Given the description of an element on the screen output the (x, y) to click on. 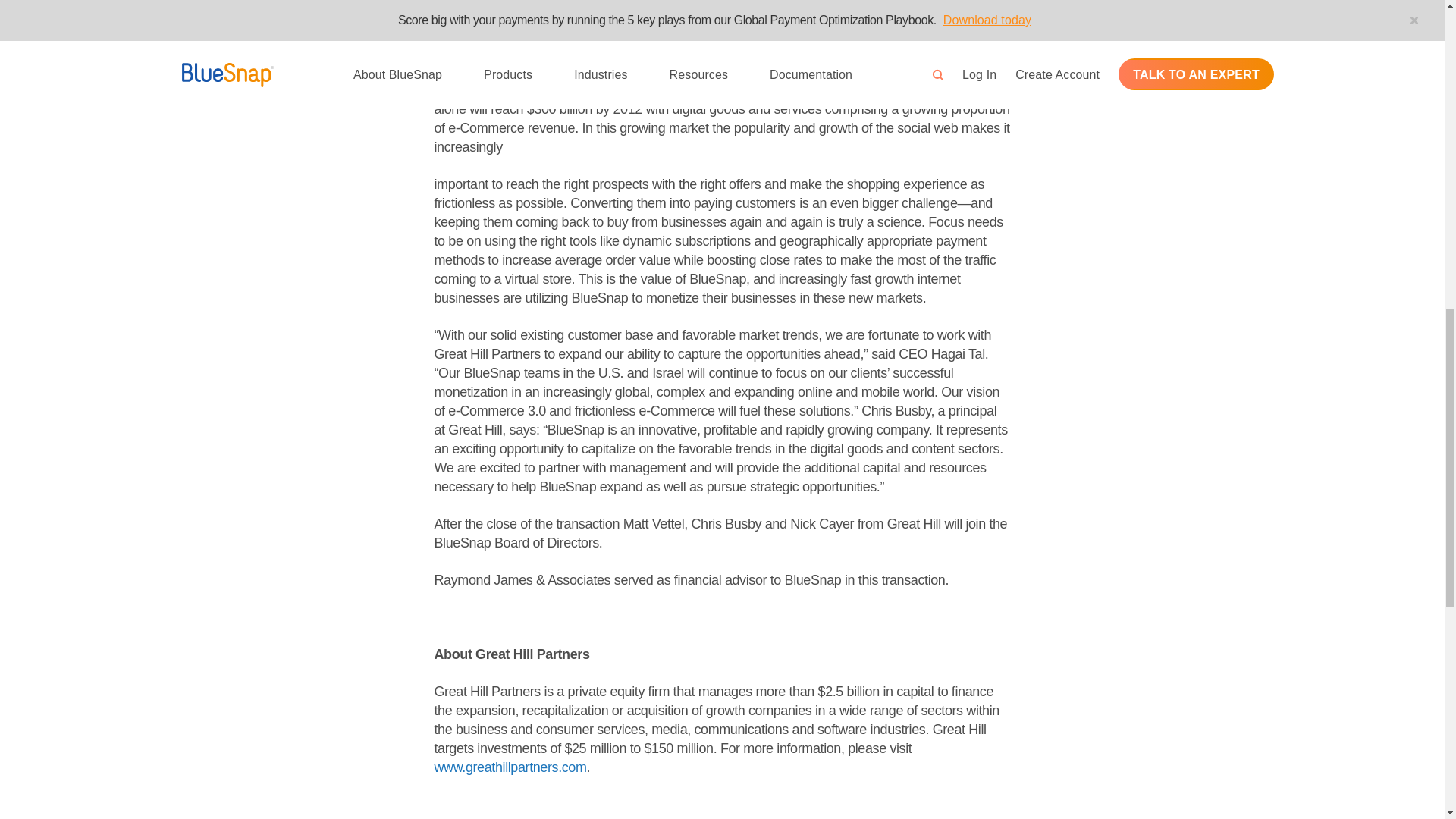
Page 1 (721, 78)
